Given the description of an element on the screen output the (x, y) to click on. 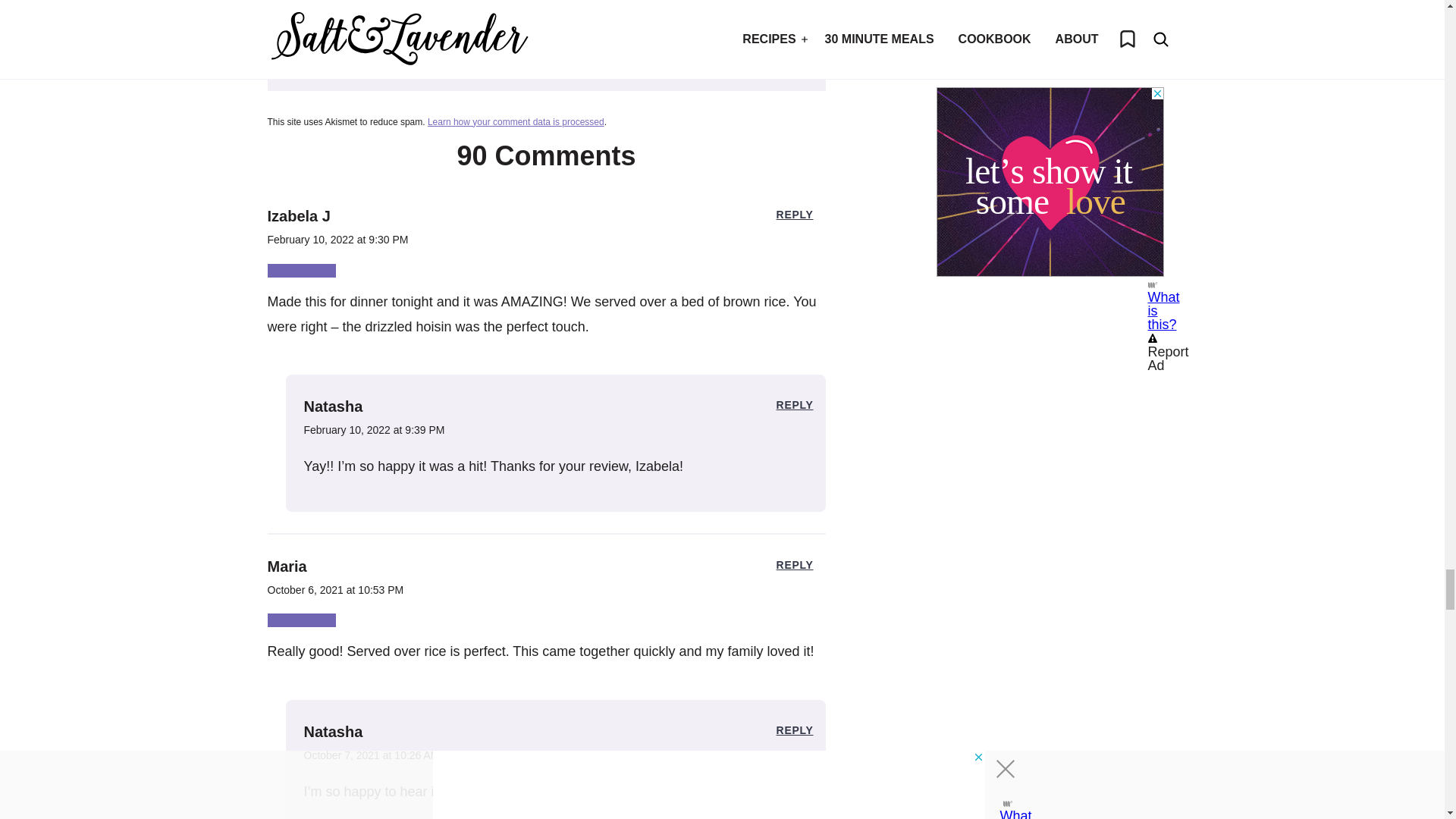
Post Comment (546, 43)
